Given the description of an element on the screen output the (x, y) to click on. 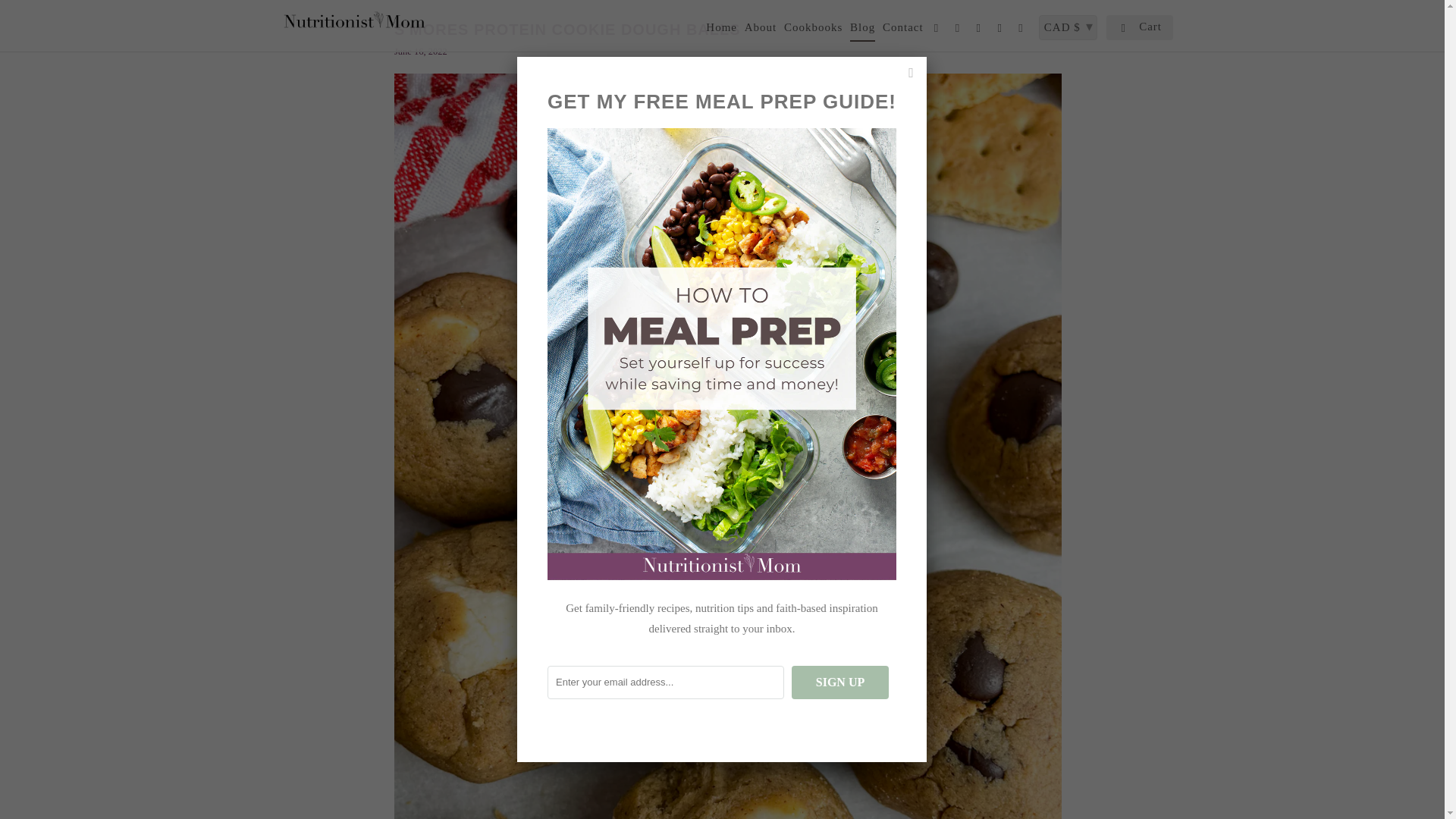
Sign Up (840, 682)
